Given the description of an element on the screen output the (x, y) to click on. 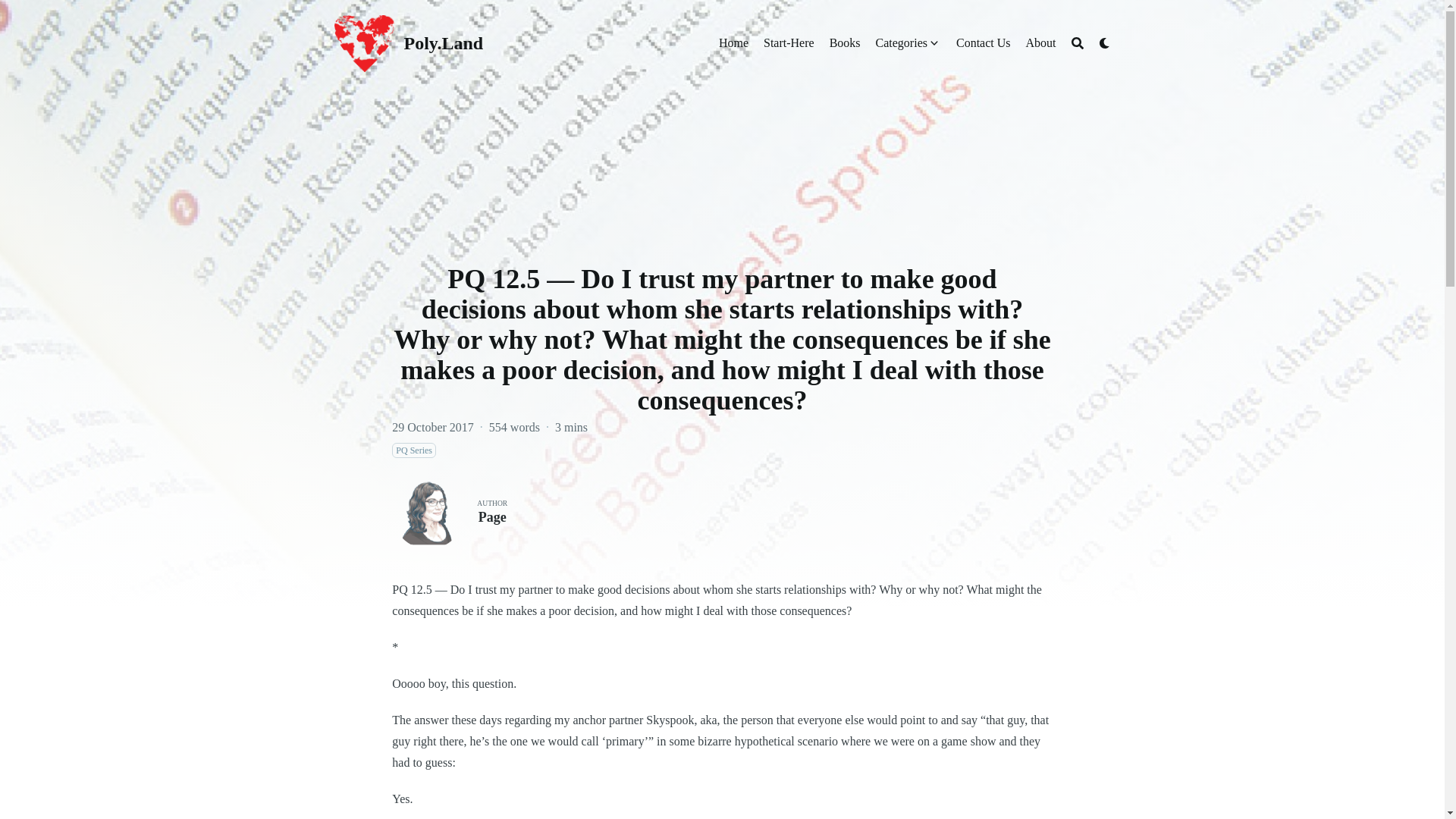
Poly.Land (363, 43)
Poly.Land (443, 43)
Start-Here (787, 43)
Books (844, 43)
Categories (901, 43)
Home (733, 43)
